Given the description of an element on the screen output the (x, y) to click on. 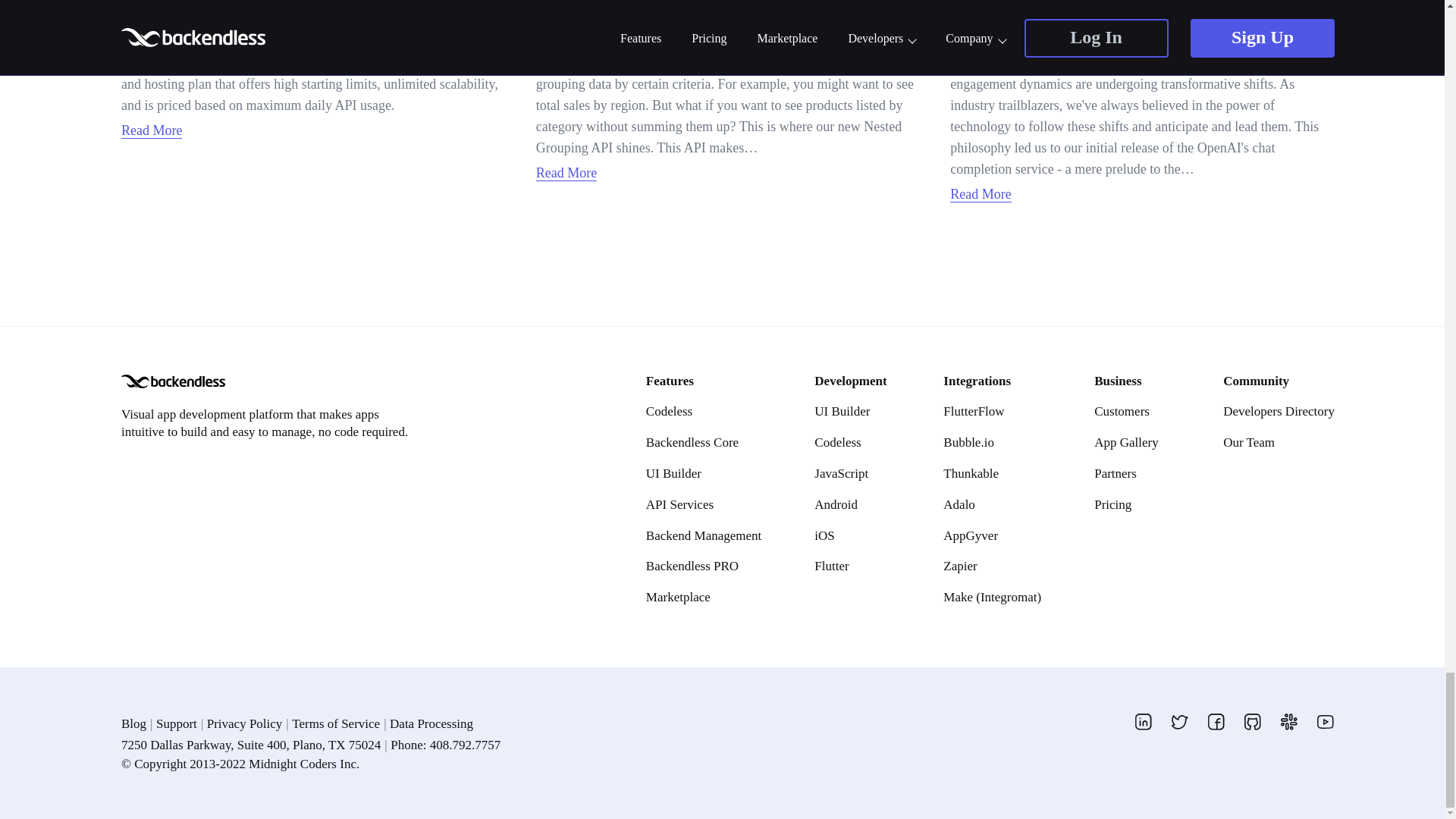
facebook (1216, 721)
twitter (1179, 721)
github (1252, 721)
linkedin (1143, 721)
youtube (1325, 721)
slack (1288, 721)
Backendless (172, 381)
